Given the description of an element on the screen output the (x, y) to click on. 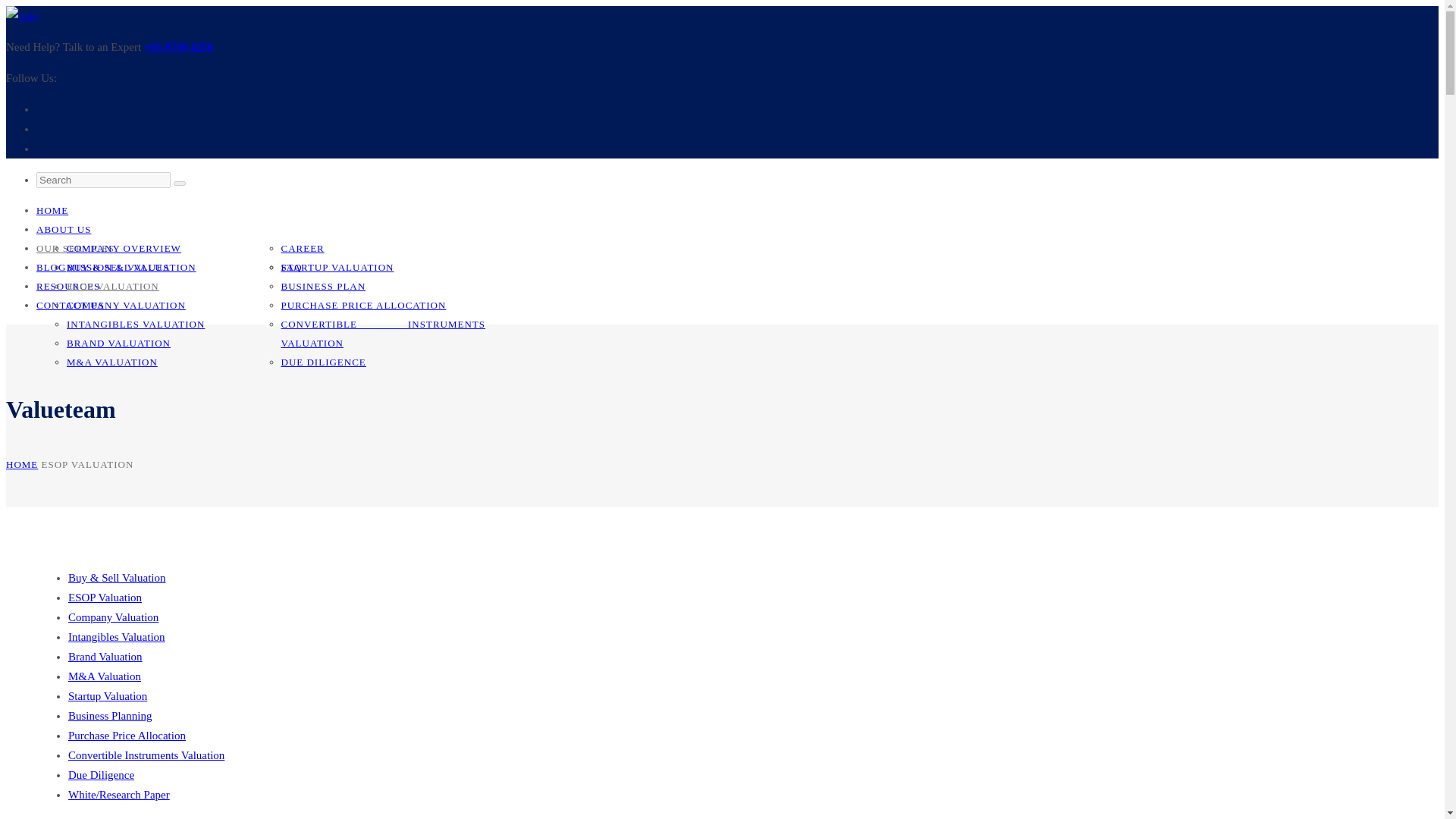
Intangibles Valuation (116, 636)
Brand Valuation (105, 656)
CAREER (302, 247)
HOME (21, 464)
Company Valuation (113, 616)
CONTACT US (70, 305)
COMPANY OVERVIEW (123, 247)
STARTUP VALUATION (337, 266)
BUSINESS PLAN (323, 285)
FAQ (291, 266)
Business Planning (109, 715)
DUE DILIGENCE (323, 361)
RESOURCES (68, 285)
Due Diligence (100, 775)
PURCHASE PRICE ALLOCATION (363, 305)
